Given the description of an element on the screen output the (x, y) to click on. 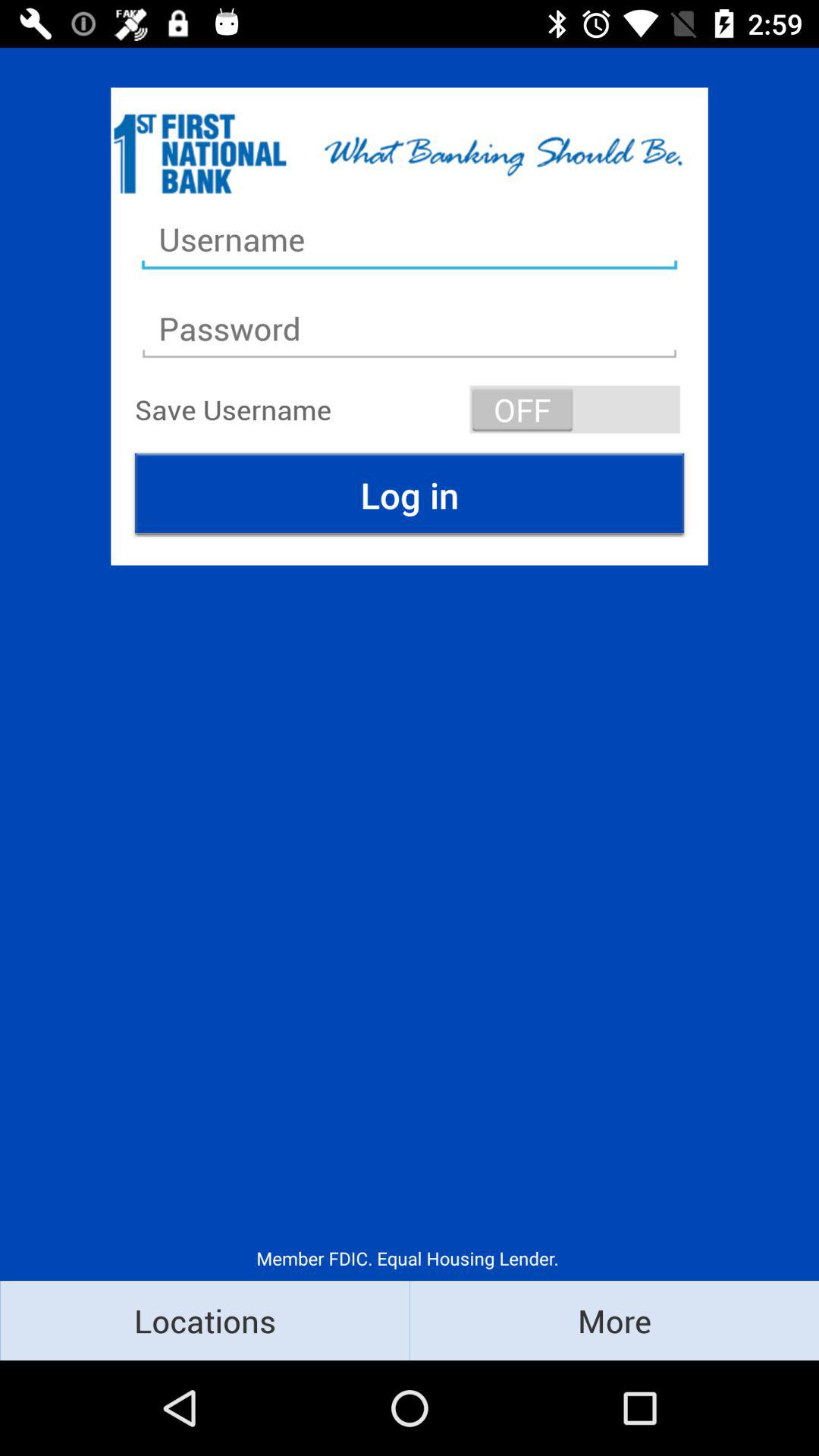
launch the icon to the right of locations item (614, 1320)
